Given the description of an element on the screen output the (x, y) to click on. 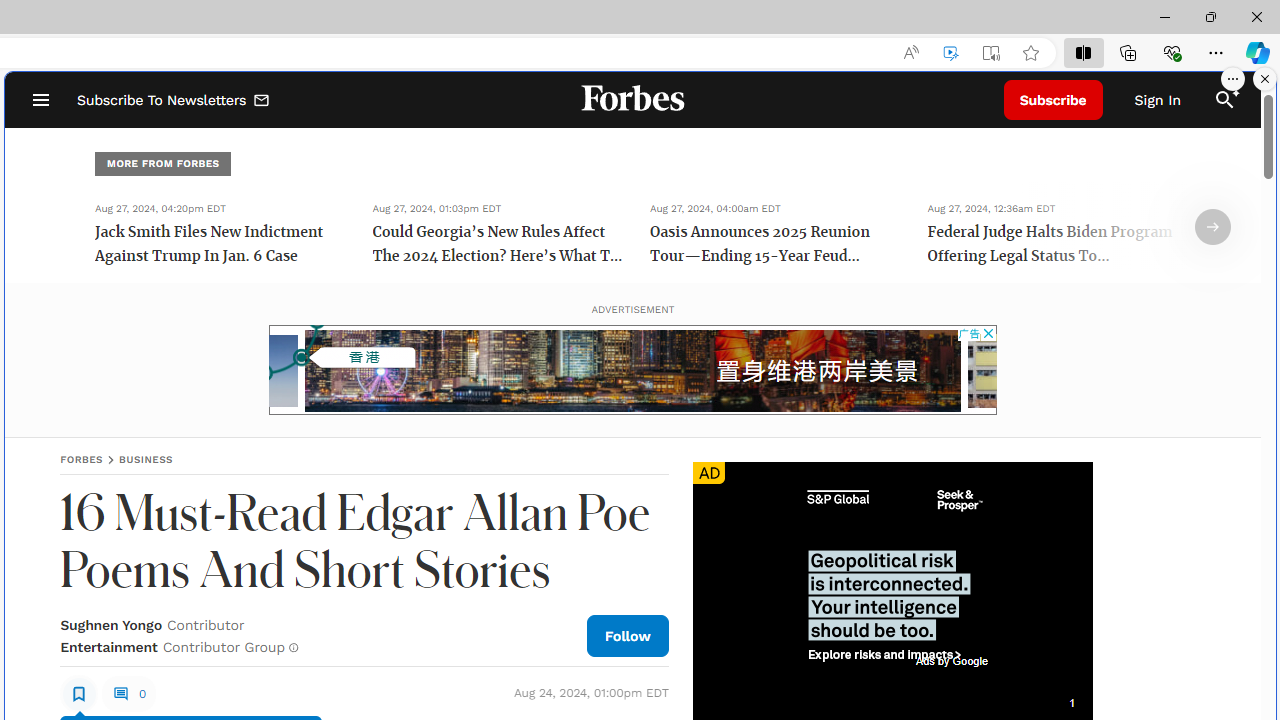
Class: envelope_svg__fs-icon envelope_svg__fs-icon--envelope (262, 102)
Class: fs-icon fs-icon--info (293, 647)
More options. (1233, 79)
Entertainment (108, 646)
Arrow Right (1213, 227)
Subscribe To Newsletters (173, 99)
Class: sElHJWe4 (79, 692)
Sughnen Yongo (111, 623)
Enter Immersive Reader (F9) (991, 53)
